Given the description of an element on the screen output the (x, y) to click on. 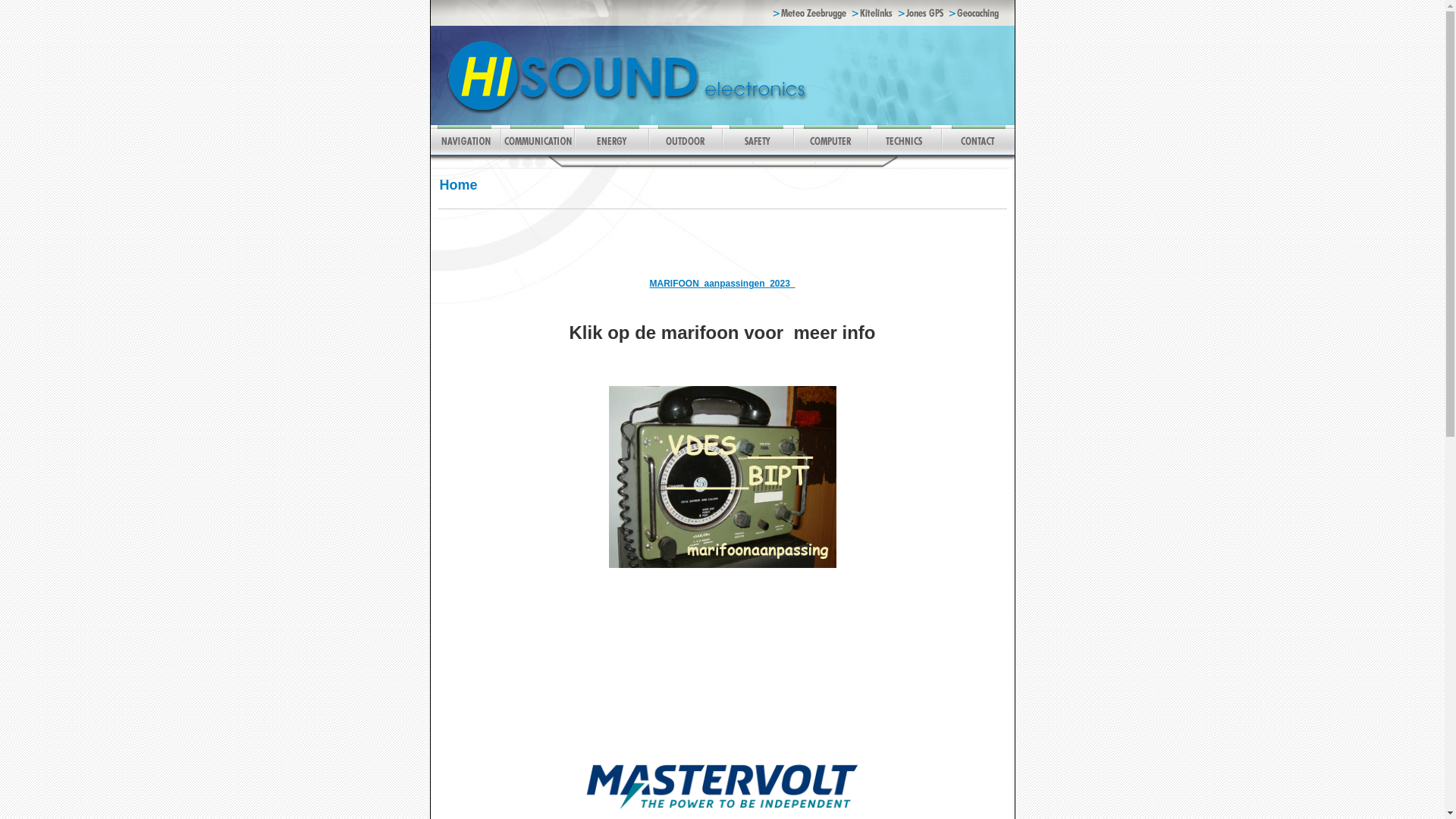
Contact Element type: hover (976, 151)
Computer Element type: hover (830, 151)
Outdoor Element type: hover (684, 151)
Communication Element type: hover (536, 151)
Technics Element type: hover (904, 151)
Navigation Element type: hover (465, 151)
MARIFOON  aanpassingen  2023   Element type: text (721, 288)
Safety Element type: hover (757, 151)
Energy Element type: hover (610, 151)
